Given the description of an element on the screen output the (x, y) to click on. 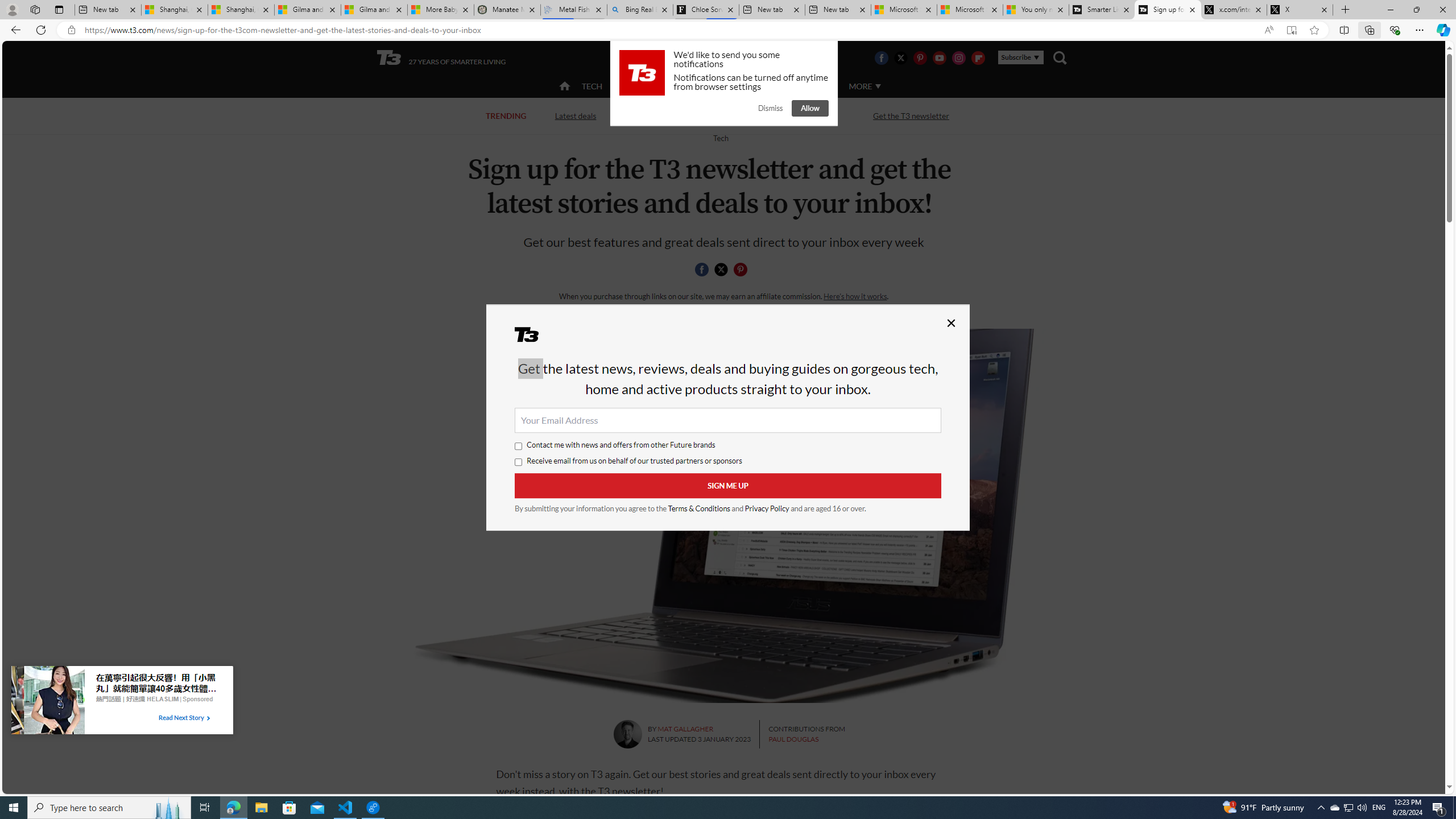
Share this page on Facebook (701, 269)
LUXURY (765, 85)
T3 newsletter (723, 515)
Visit us on Flipboard (978, 57)
Sign me up (727, 485)
Contact me with news and offers from other Future brands (518, 446)
Smarter Living | T3 (1102, 9)
AUTO (815, 85)
ACTIVE (638, 85)
AUTO (815, 86)
